Given the description of an element on the screen output the (x, y) to click on. 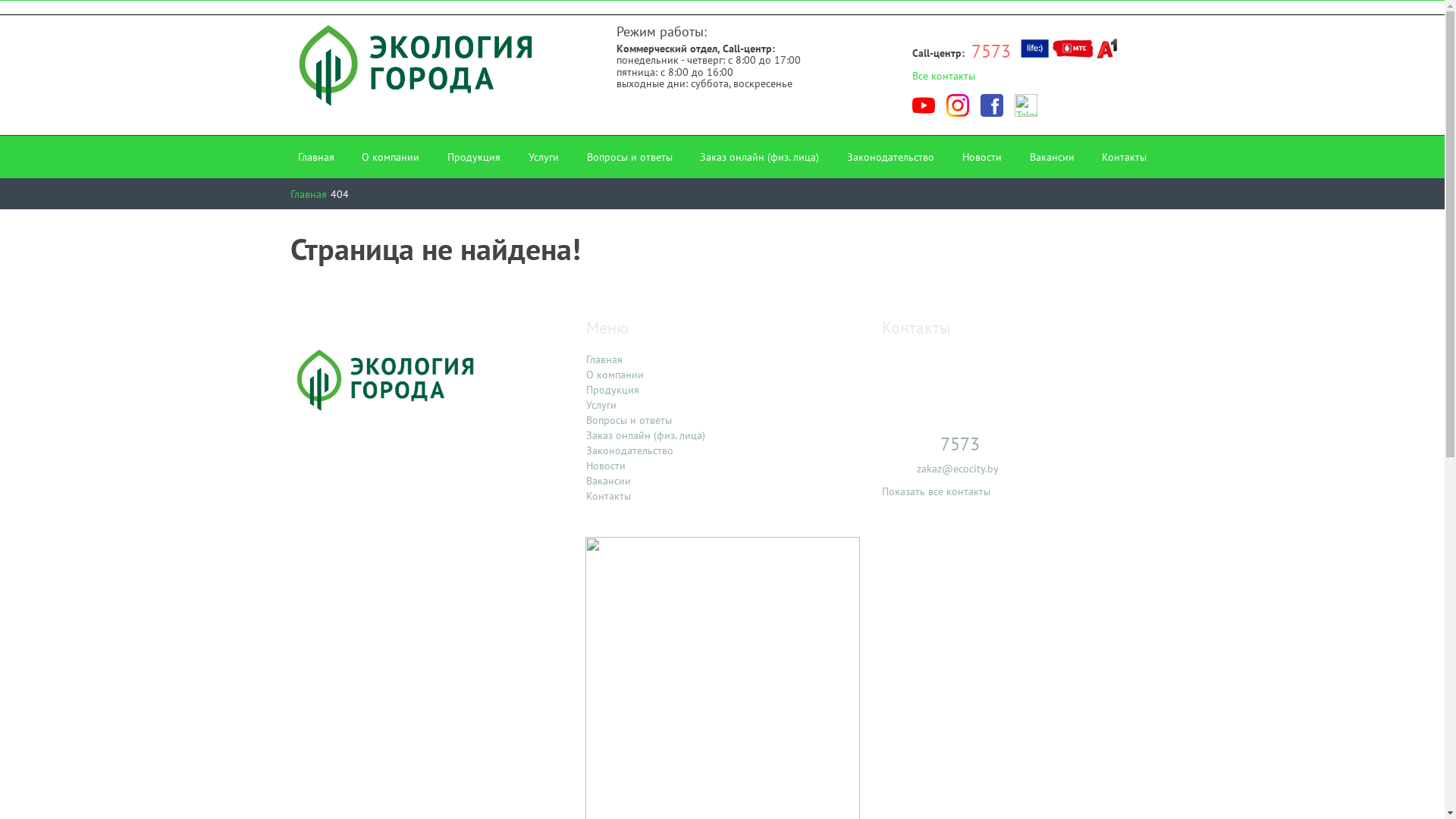
7573 Element type: text (990, 50)
zakaz@ecocity.by Element type: text (956, 468)
7573 Element type: text (958, 443)
